Given the description of an element on the screen output the (x, y) to click on. 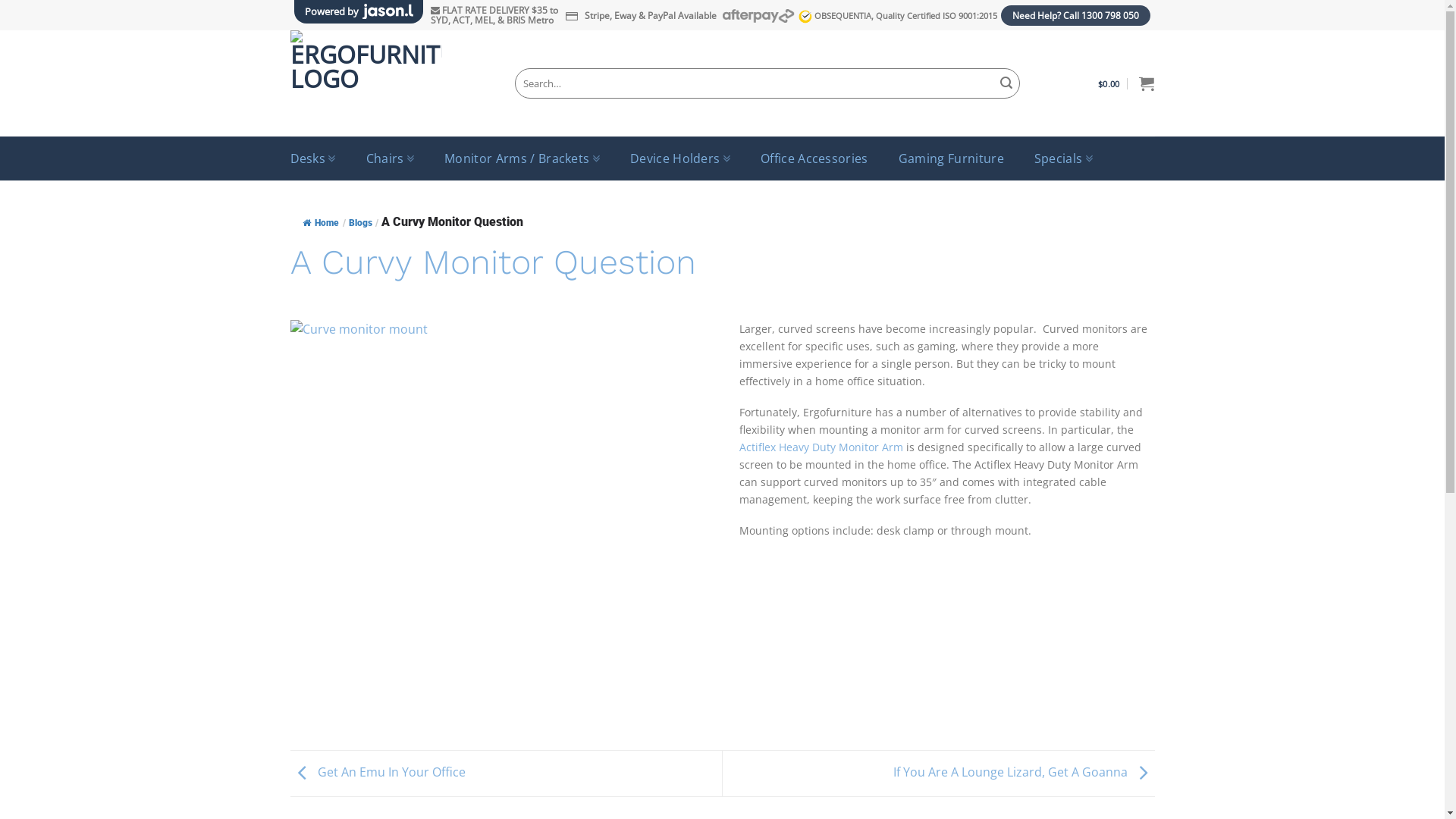
Search Element type: text (1006, 83)
Office Accessories Element type: text (814, 158)
Device Holders Element type: text (680, 158)
Gaming Furniture Element type: text (951, 158)
Get An Emu In Your Office Element type: text (376, 771)
If You Are A Lounge Lizard, Get A Goanna Element type: text (1023, 771)
Actiflex Heavy Duty Monitor Arm  Element type: text (822, 446)
Specials Element type: text (1063, 158)
Blogs Element type: text (360, 222)
Desks Element type: text (312, 158)
$0.00 Element type: text (1126, 83)
Chairs Element type: text (390, 158)
Monitor Arms / Brackets Element type: text (521, 158)
Need Help? Call 1300 798 050 Element type: text (1075, 14)
Home Element type: text (319, 222)
